Given the description of an element on the screen output the (x, y) to click on. 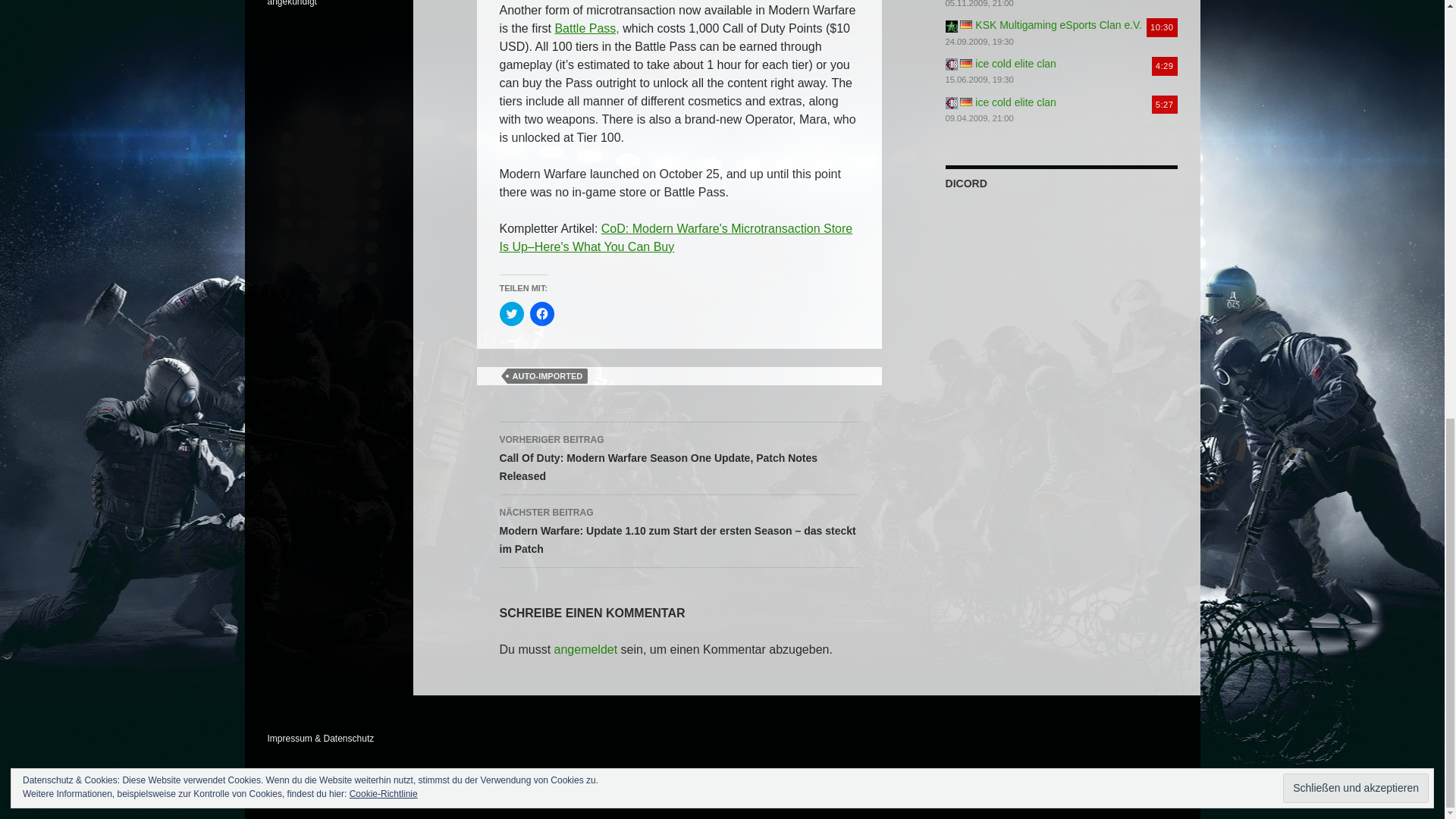
angemeldet (585, 649)
AUTO-IMPORTED (547, 376)
Klick, um auf Facebook zu teilen (541, 313)
Battle Pass, (586, 28)
